Given the description of an element on the screen output the (x, y) to click on. 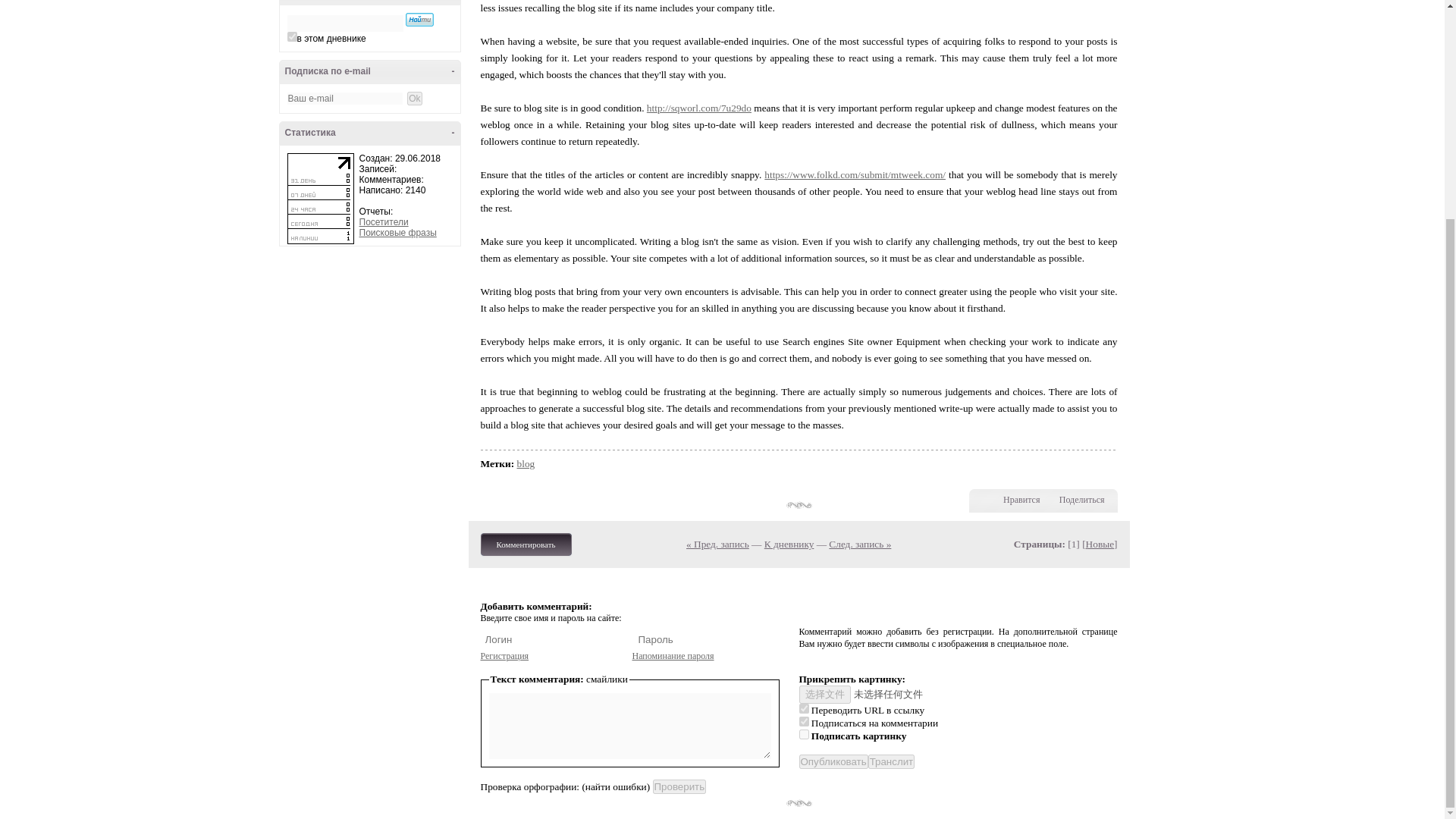
Ok (414, 98)
Ok (414, 98)
yes (804, 708)
yes (804, 721)
blog (525, 463)
1 (291, 36)
1 (804, 734)
